Given the description of an element on the screen output the (x, y) to click on. 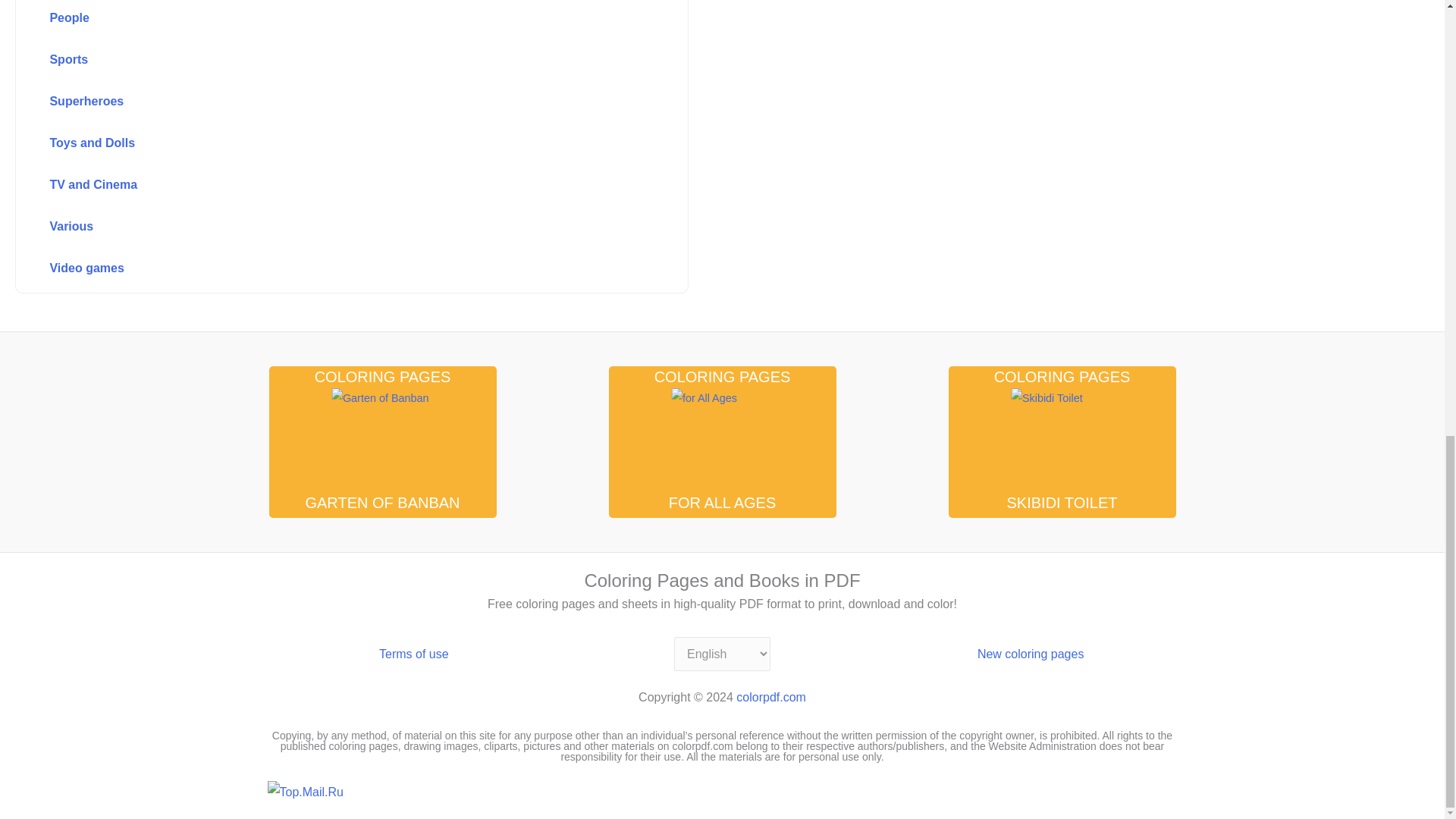
People coloring pages (318, 19)
Various (318, 227)
TV and Cinema coloring pages (318, 185)
TV and Cinema (318, 185)
Toys and Dolls coloring pages (318, 143)
Toys and Dolls (318, 143)
Superheroes coloring pages (318, 101)
Video games (318, 268)
Superheroes (318, 101)
People (318, 19)
